Given the description of an element on the screen output the (x, y) to click on. 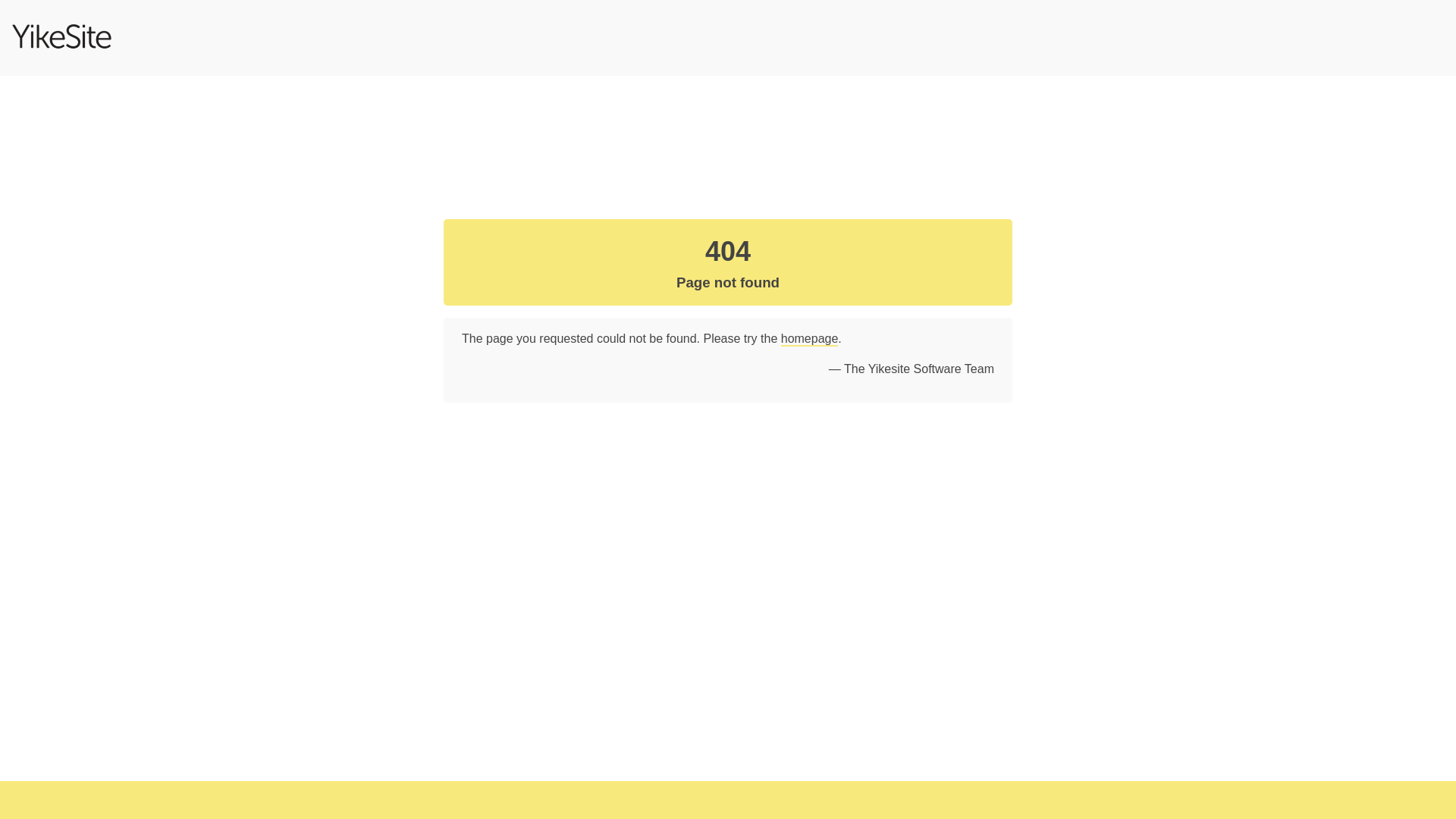
homepage Element type: text (809, 339)
